Given the description of an element on the screen output the (x, y) to click on. 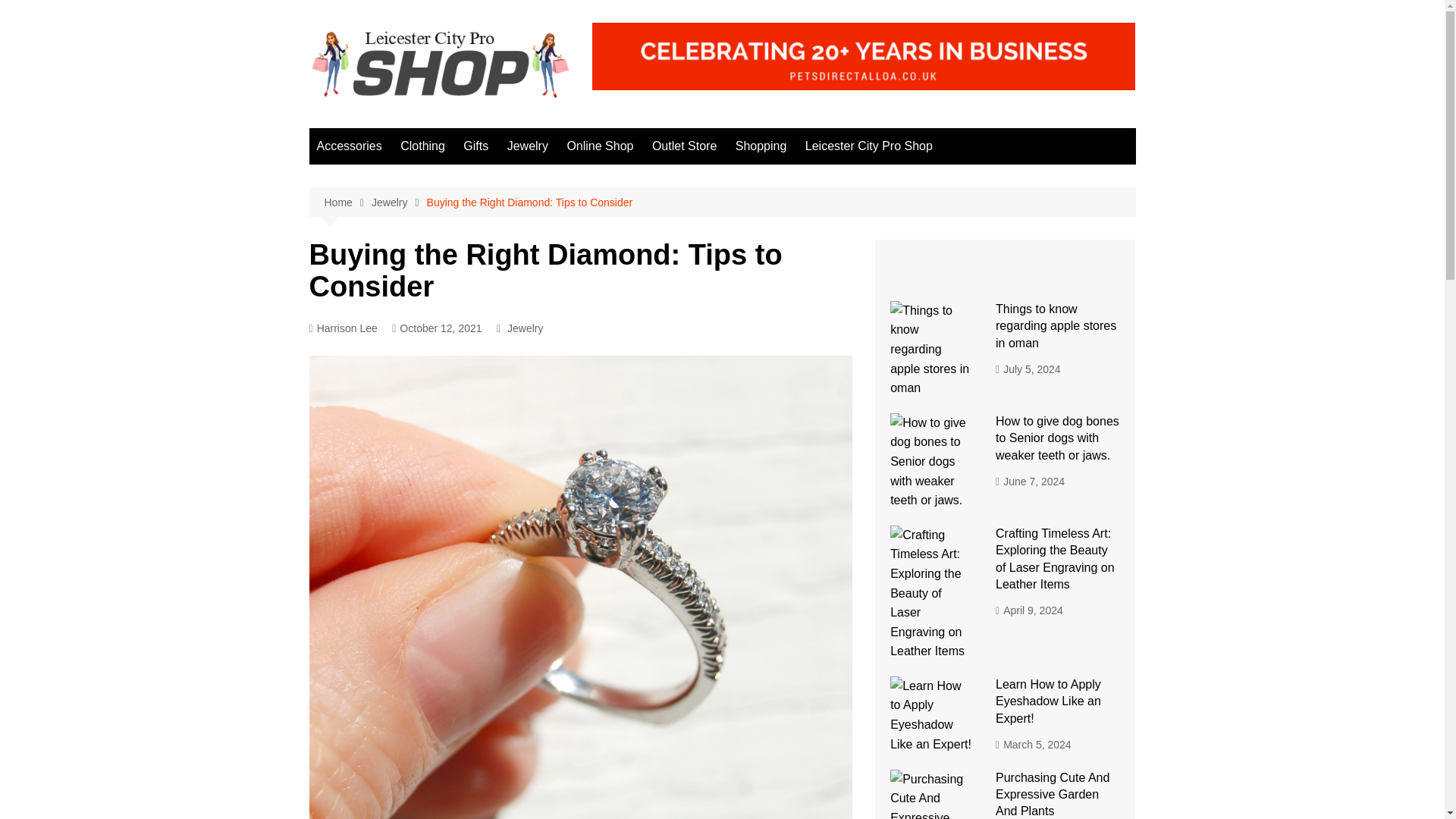
Leicester City Pro Shop (868, 145)
Shopping (761, 145)
Buying the Right Diamond: Tips to Consider (529, 202)
Home (347, 202)
Outlet Store (684, 145)
Harrison Lee (342, 328)
Jewelry (527, 145)
Jewelry (524, 328)
Online Shop (599, 145)
Clothing (422, 145)
Gifts (475, 145)
Accessories (349, 145)
October 12, 2021 (436, 328)
Jewelry (398, 202)
